Given the description of an element on the screen output the (x, y) to click on. 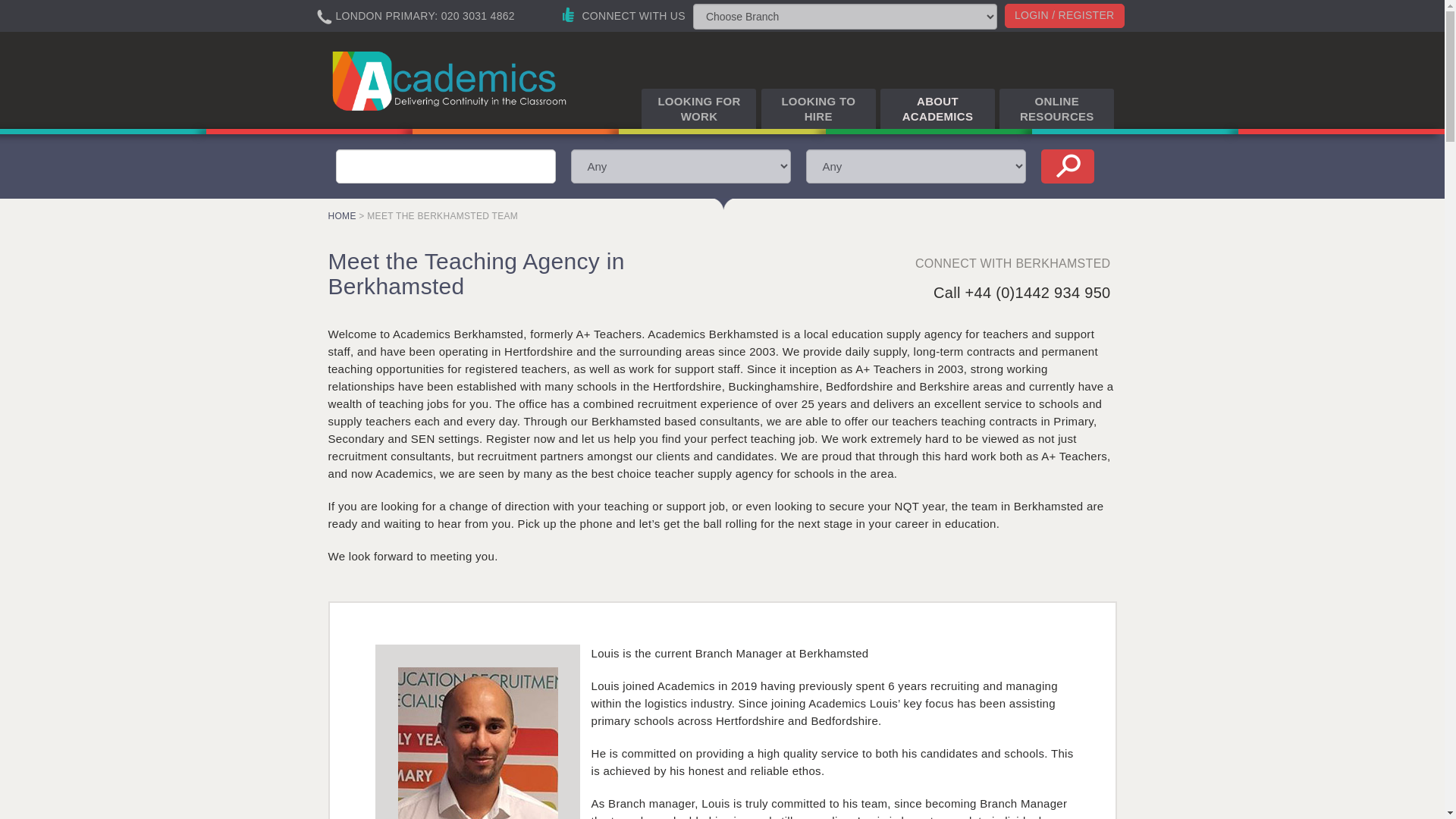
Home (451, 79)
Search (1067, 166)
LONDON PRIMARY: 020 3031 4862 (416, 17)
Search (1067, 166)
LOOKING FOR WORK (698, 108)
LONDON PRIMARY: 020 3031 4862 (428, 13)
